Given the description of an element on the screen output the (x, y) to click on. 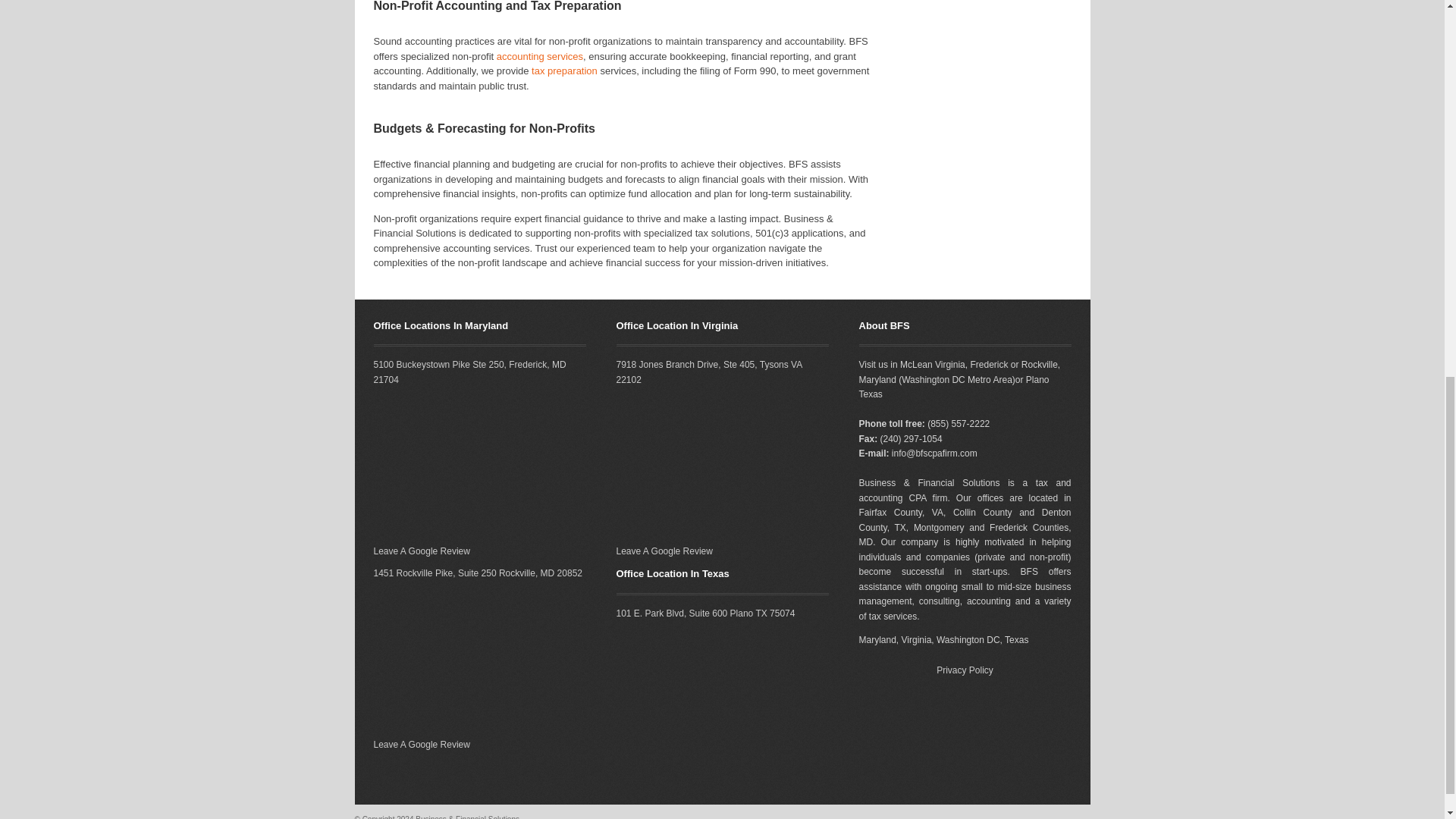
tax preparation (563, 70)
